Given the description of an element on the screen output the (x, y) to click on. 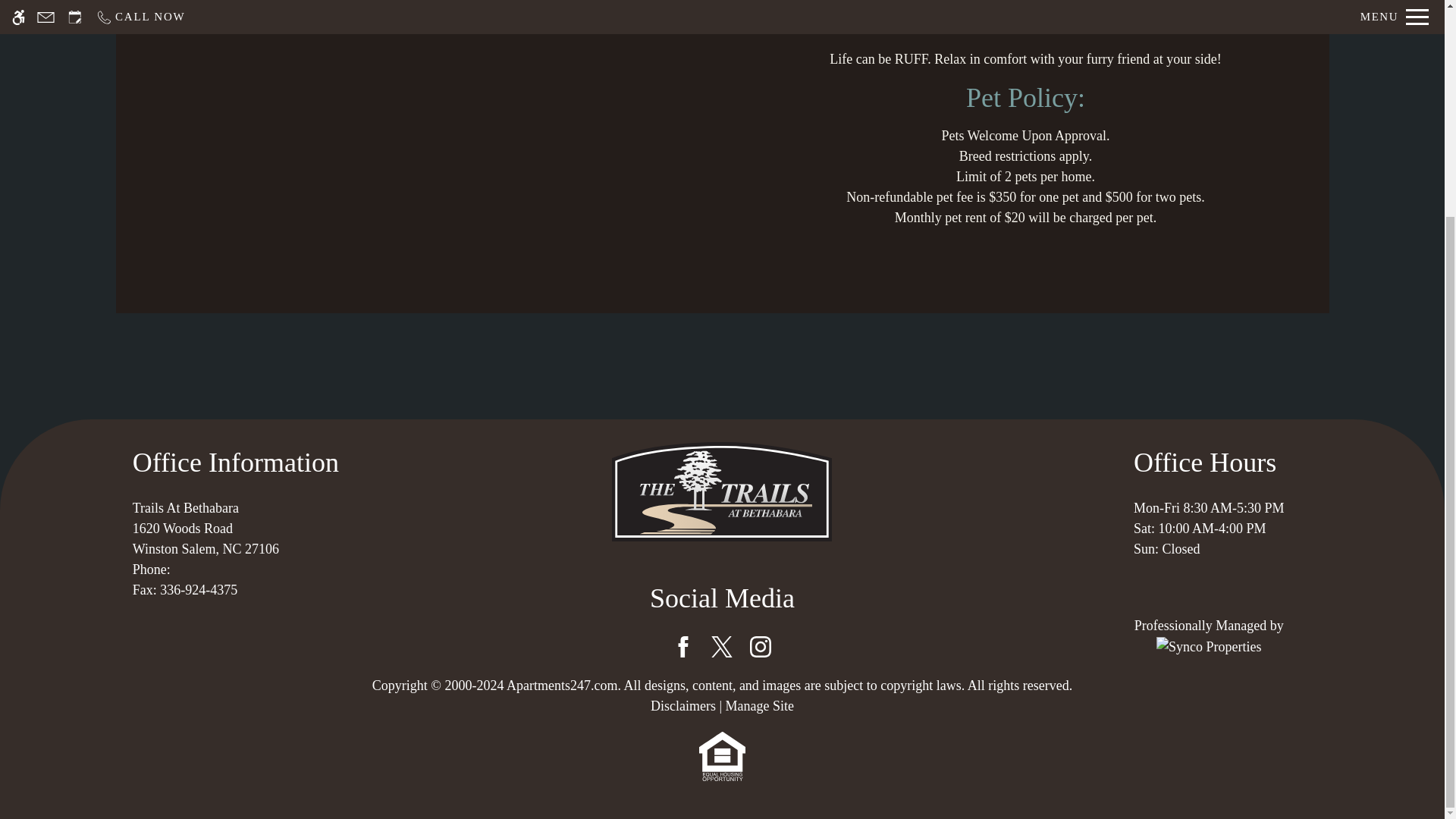
Manage Site (759, 705)
Apartments247.com (561, 685)
Disclaimers (683, 705)
Manage Site (235, 538)
